Given the description of an element on the screen output the (x, y) to click on. 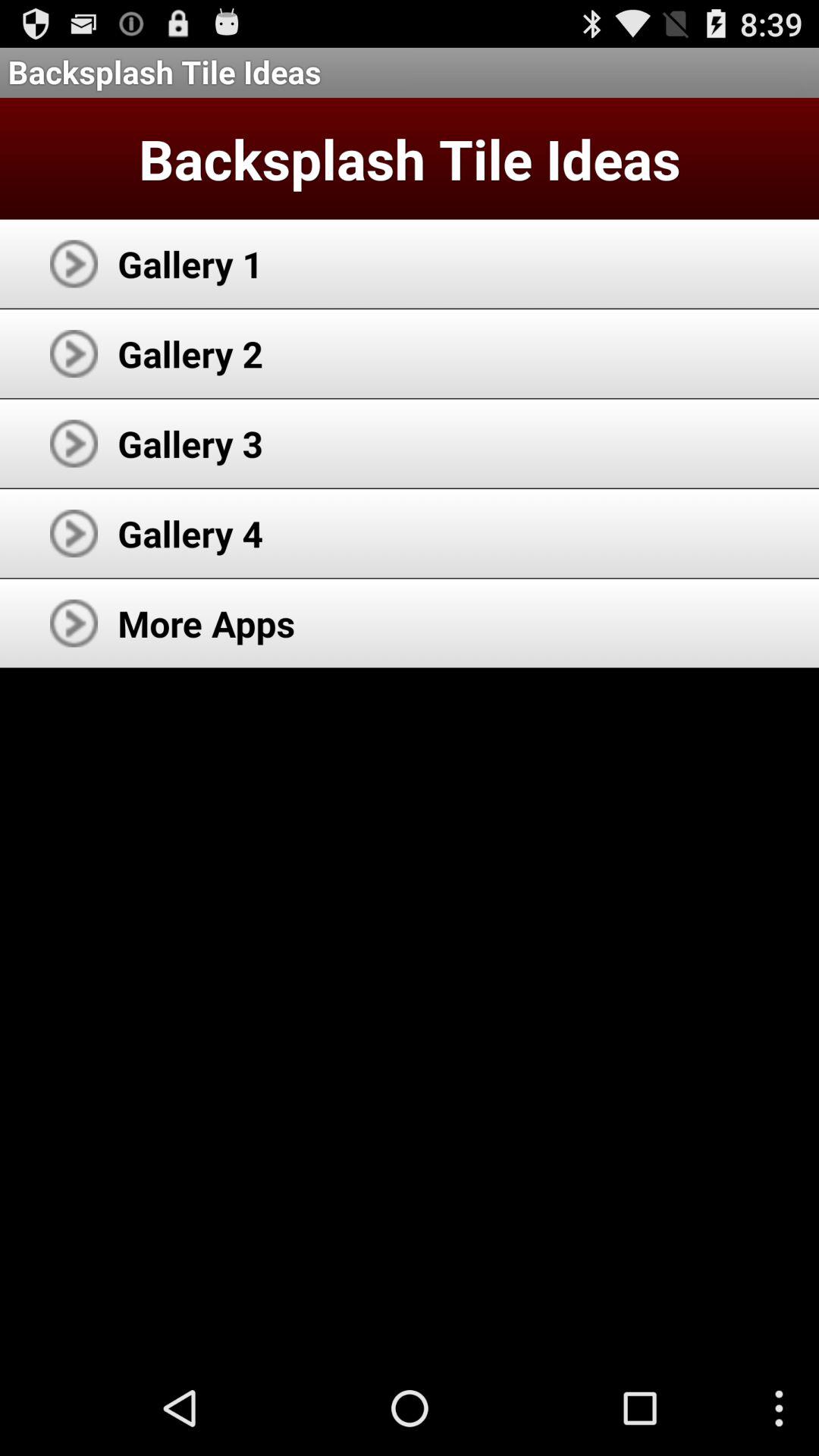
press the app below gallery 3 app (190, 533)
